Given the description of an element on the screen output the (x, y) to click on. 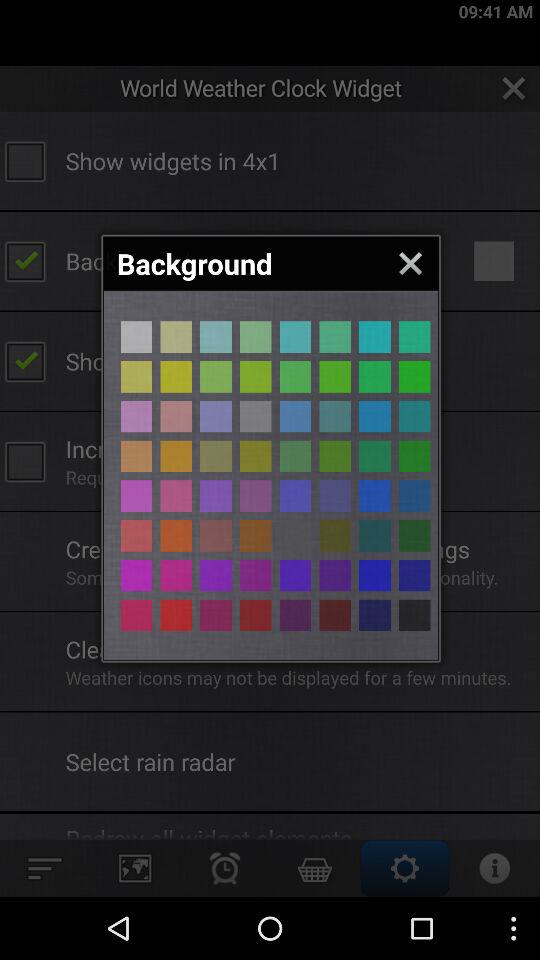
select background color (414, 336)
